Given the description of an element on the screen output the (x, y) to click on. 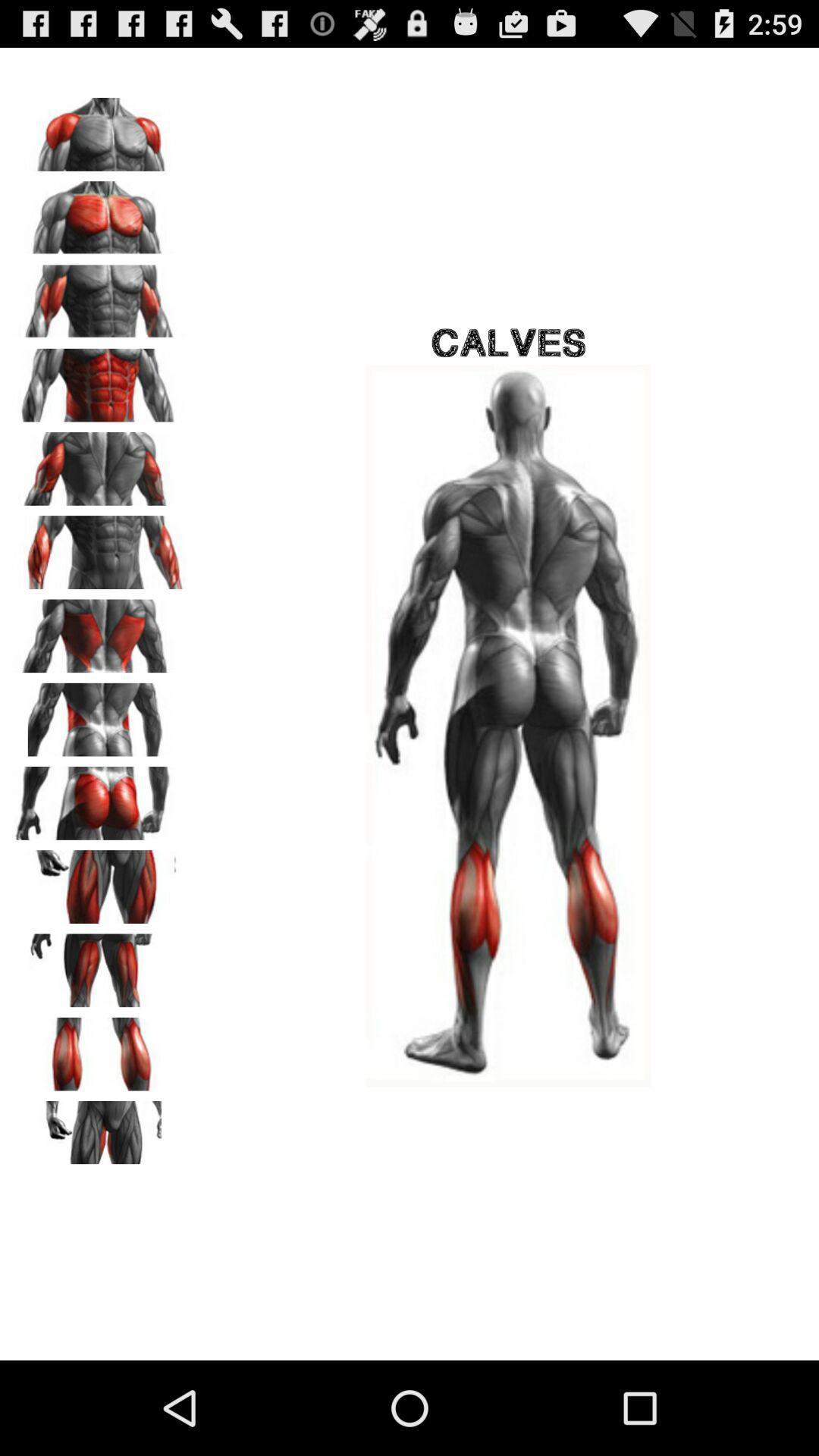
body exercise (99, 547)
